Given the description of an element on the screen output the (x, y) to click on. 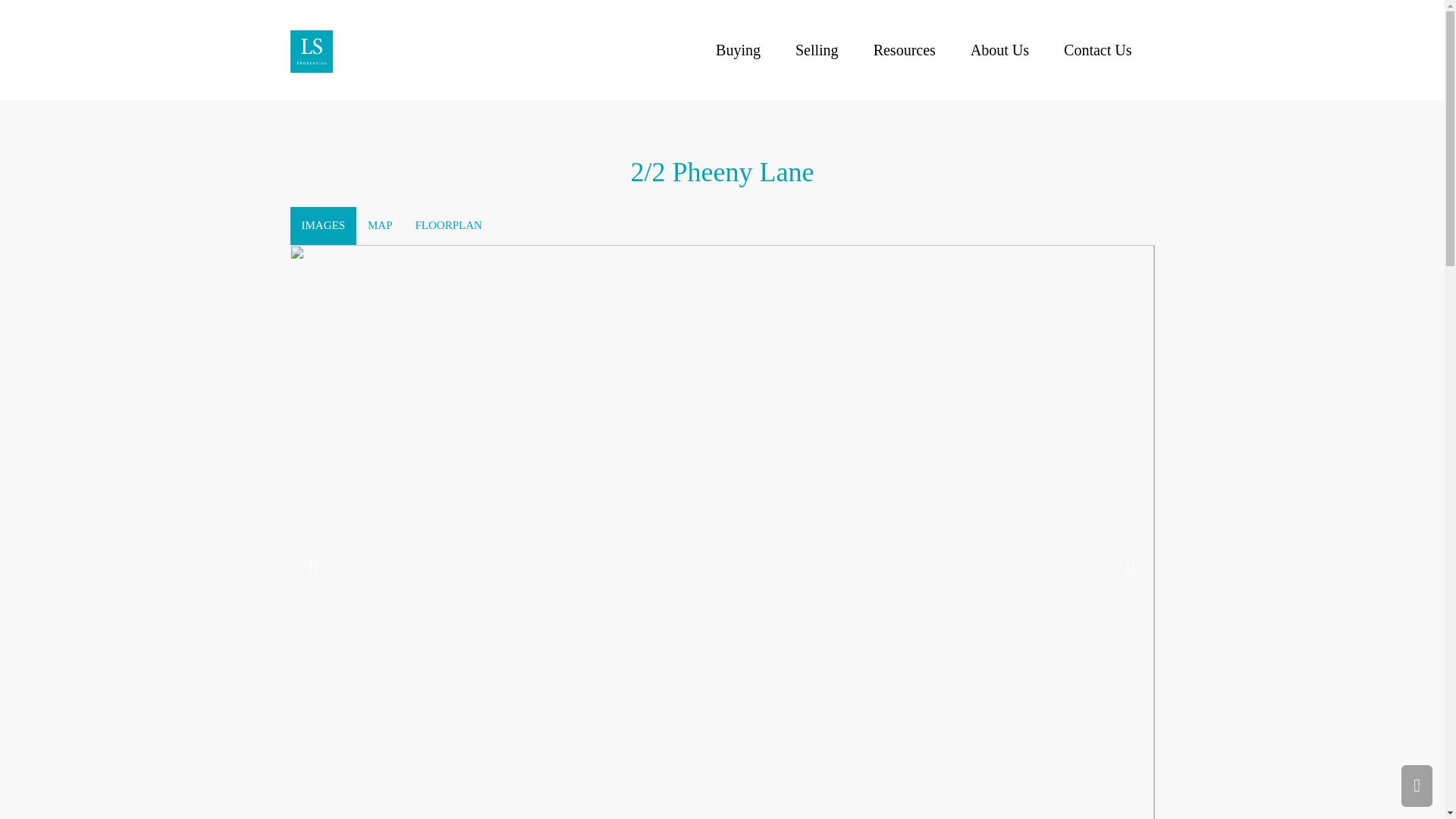
Selling (817, 49)
About Us (1000, 49)
Contact Us (1097, 49)
Resources (904, 49)
Buying (737, 49)
